Given the description of an element on the screen output the (x, y) to click on. 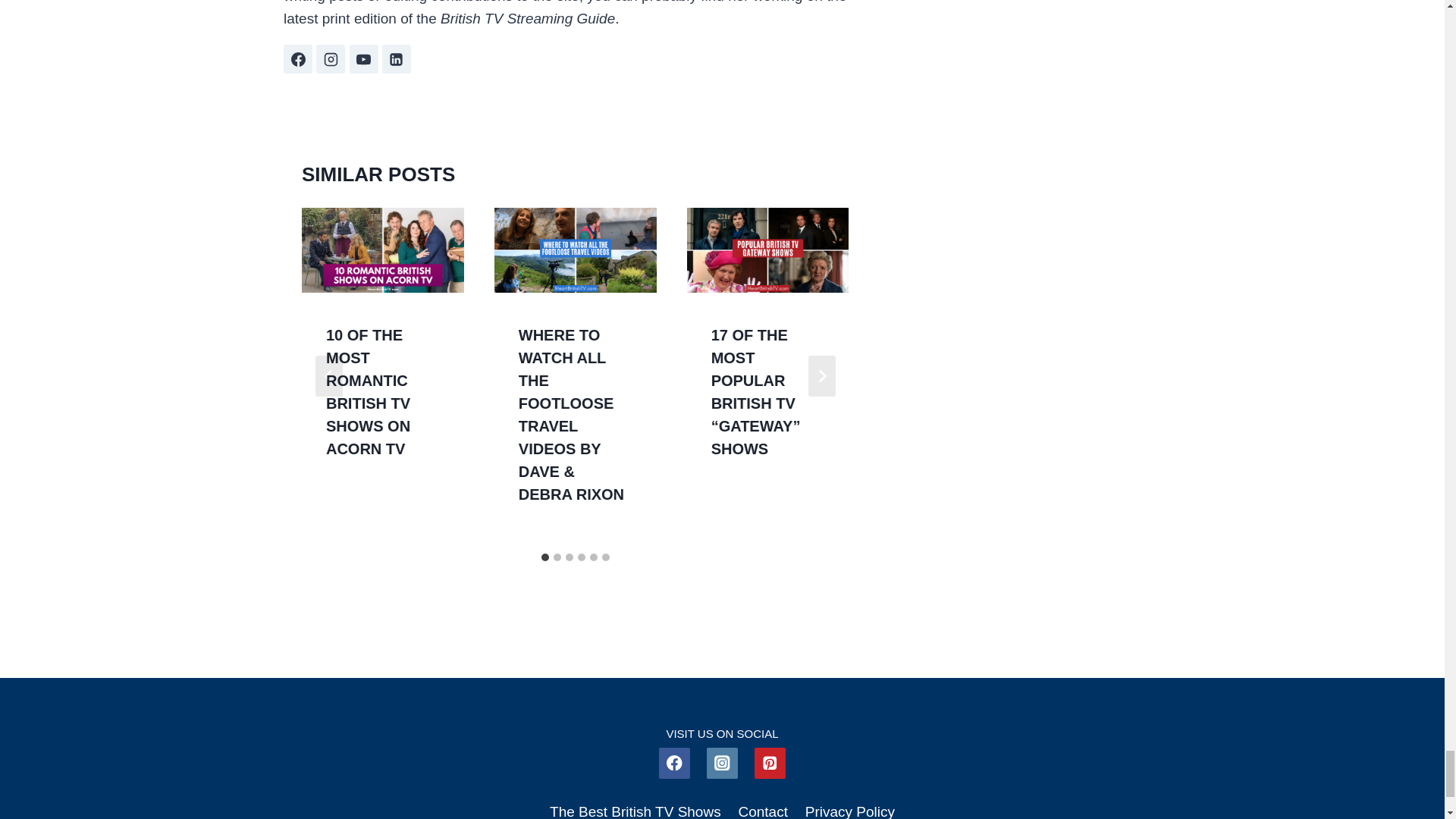
Follow Stefanie Hutson on Youtube (363, 59)
Follow Stefanie Hutson on Instagram (330, 59)
Follow Stefanie Hutson on Facebook (298, 59)
Follow Stefanie Hutson on Linkedin (395, 59)
